Given the description of an element on the screen output the (x, y) to click on. 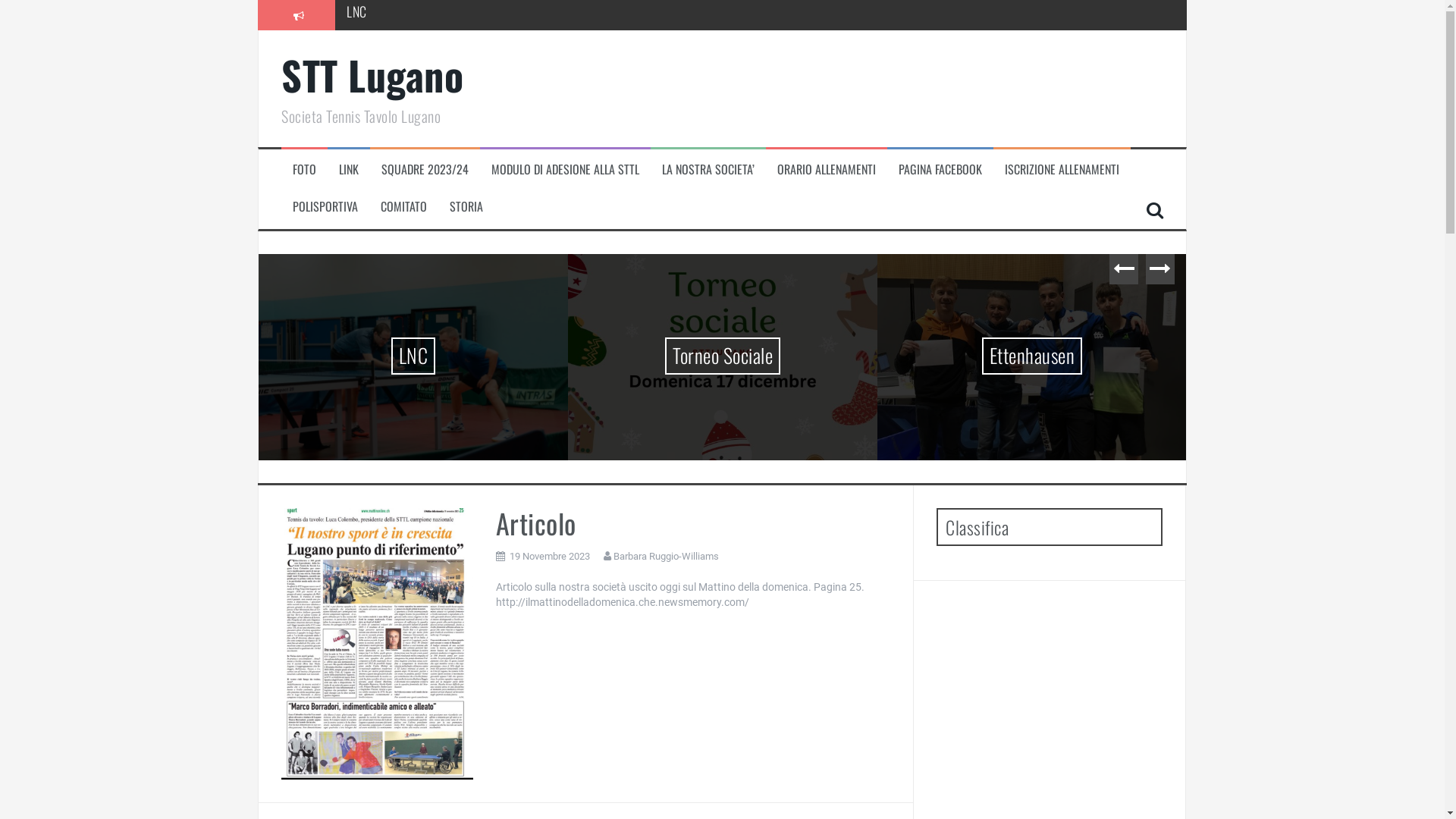
LINK Element type: text (348, 169)
SQUADRE 2023/24 Element type: text (424, 169)
MODULO DI ADESIONE ALLA STTL Element type: text (565, 169)
Torneo Sociale Element type: text (736, 355)
STT Lugano Element type: text (372, 74)
Ettenhausen Element type: text (1040, 355)
FOTO Element type: text (304, 169)
ORARIO ALLENAMENTI Element type: text (826, 169)
STORIA Element type: text (466, 206)
POLISPORTIVA Element type: text (324, 206)
Articolo Element type: text (535, 522)
LNC Element type: text (356, 14)
Articolo Element type: hover (377, 643)
COMITATO Element type: text (403, 206)
PAGINA FACEBOOK Element type: text (940, 169)
Barbara Ruggio-Williams Element type: text (665, 555)
LNC Element type: text (439, 355)
ISCRIZIONE ALLENAMENTI Element type: text (1061, 169)
Vai al contenuto Element type: text (0, 0)
19 Novembre 2023 Element type: text (549, 555)
